Given the description of an element on the screen output the (x, y) to click on. 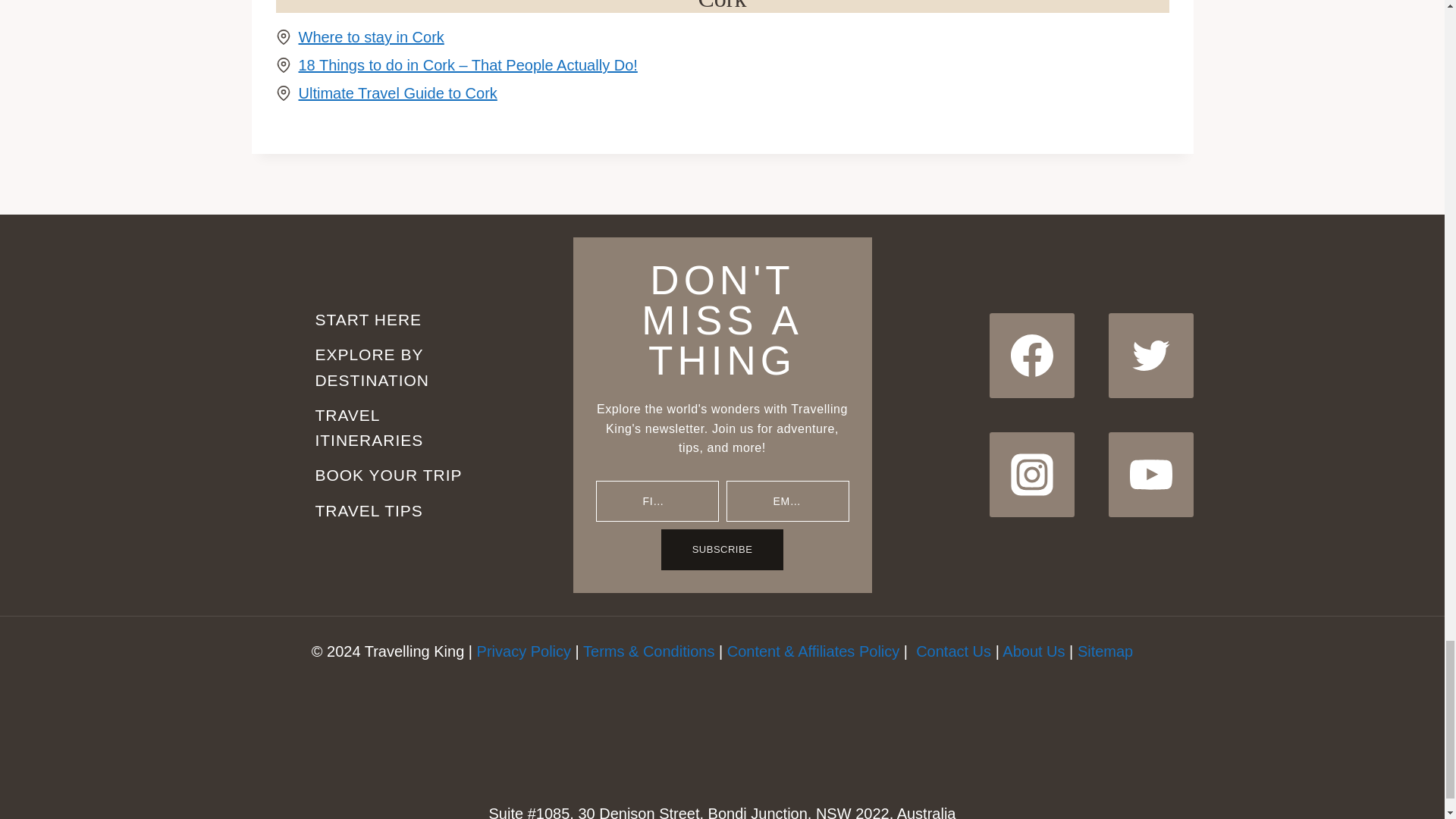
Terms and conditions (648, 651)
Where to stay in Cork (371, 36)
